Given the description of an element on the screen output the (x, y) to click on. 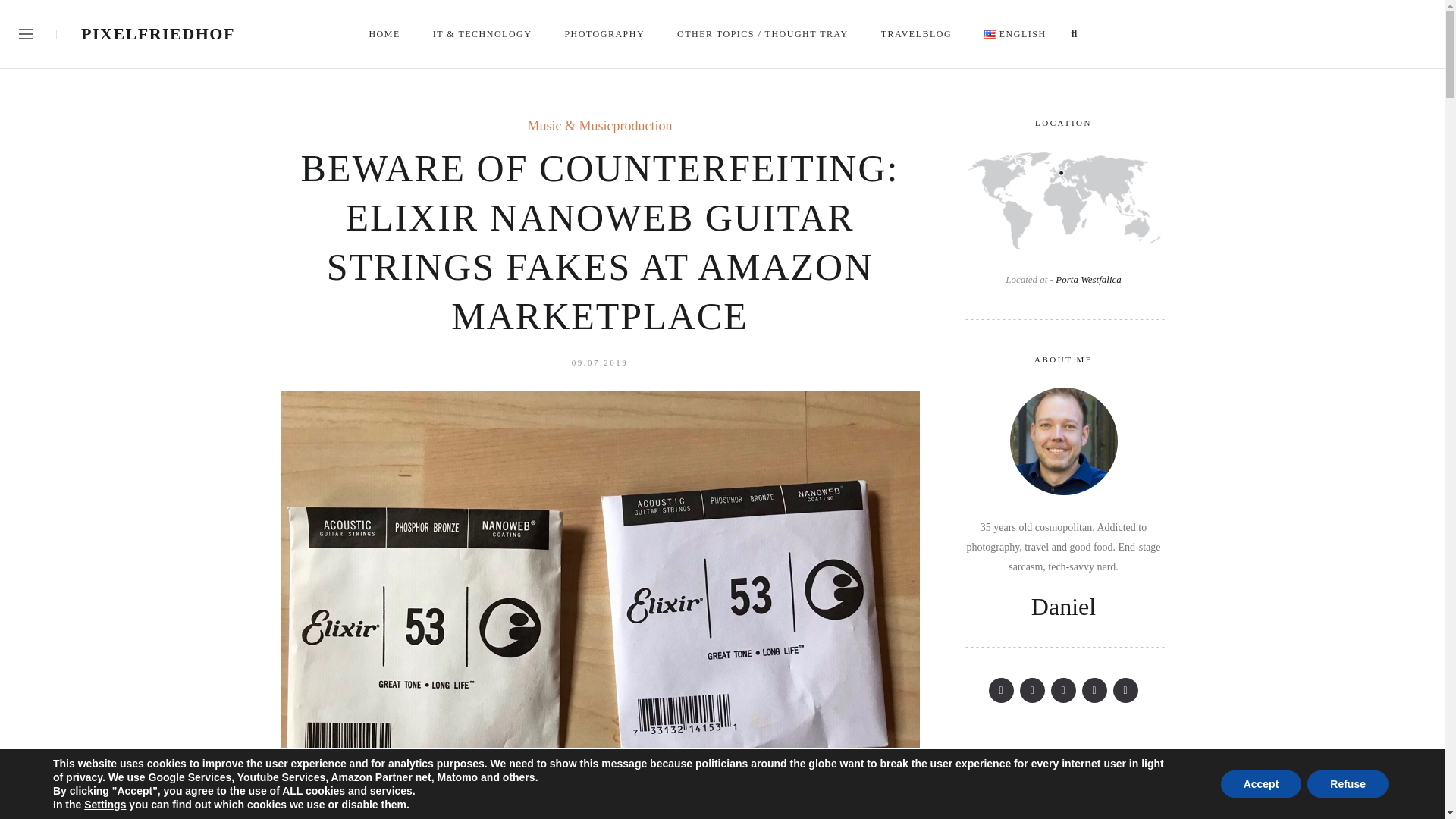
Twitter (1000, 690)
ENGLISH (1015, 34)
TRAVELBLOG (917, 34)
HOME (384, 34)
PIXELFRIEDHOF (157, 33)
Pinterest (1032, 690)
Instagram (1063, 690)
PHOTOGRAPHY (605, 34)
